Given the description of an element on the screen output the (x, y) to click on. 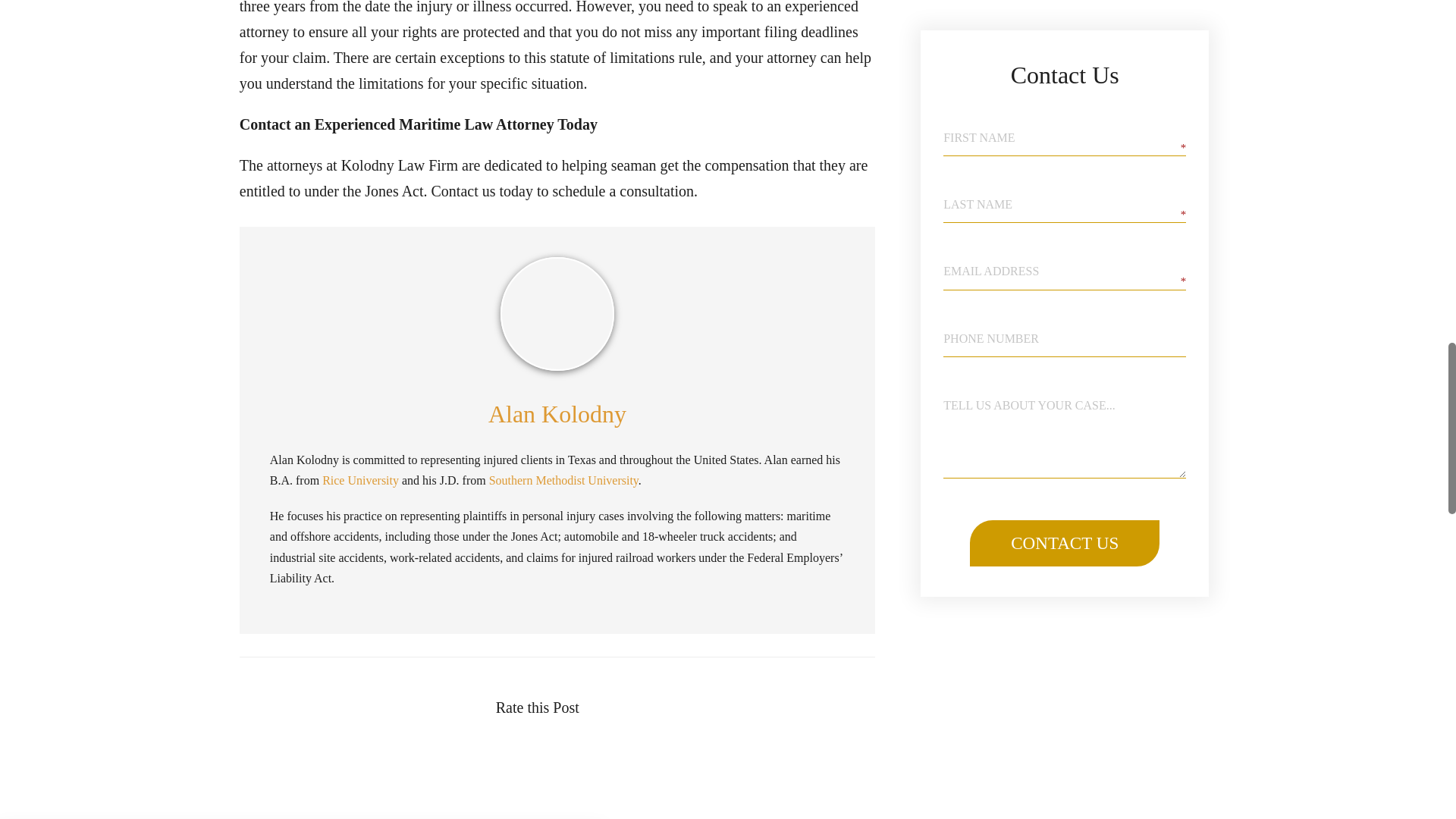
2 Stars (604, 689)
Alan Kolodny (556, 413)
Southern Methodist University (564, 480)
5 Stars (604, 739)
1 Star (604, 672)
4 Stars (604, 723)
3 Stars (604, 706)
Rice University (359, 480)
